Given the description of an element on the screen output the (x, y) to click on. 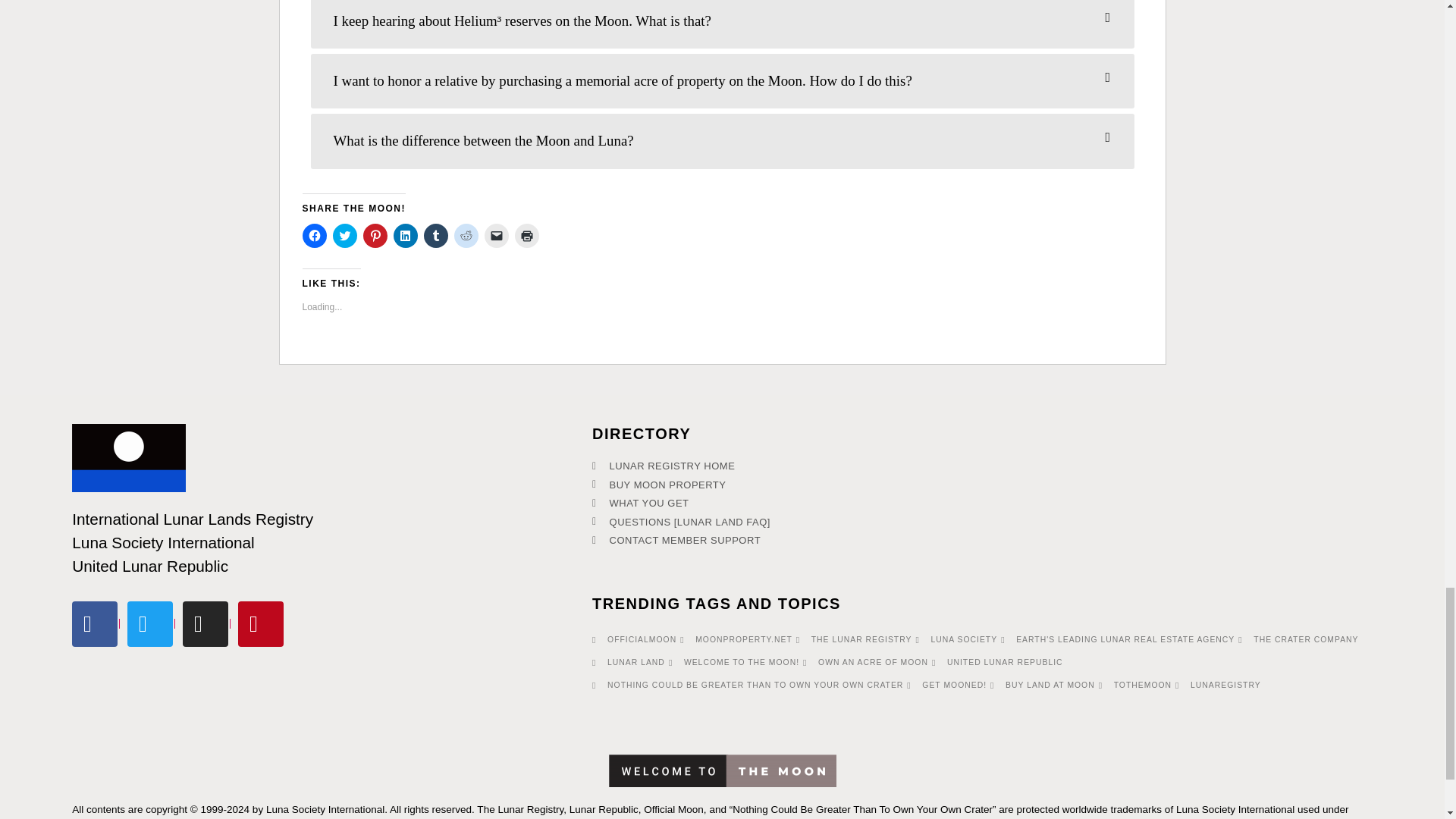
Click to share on Facebook (313, 235)
Click to email a link to a friend (495, 235)
Click to print (525, 235)
Click to share on Reddit (464, 235)
Click to share on Tumblr (434, 235)
Click to share on Pinterest (374, 235)
Click to share on Twitter (343, 235)
Click to share on LinkedIn (404, 235)
